Given the description of an element on the screen output the (x, y) to click on. 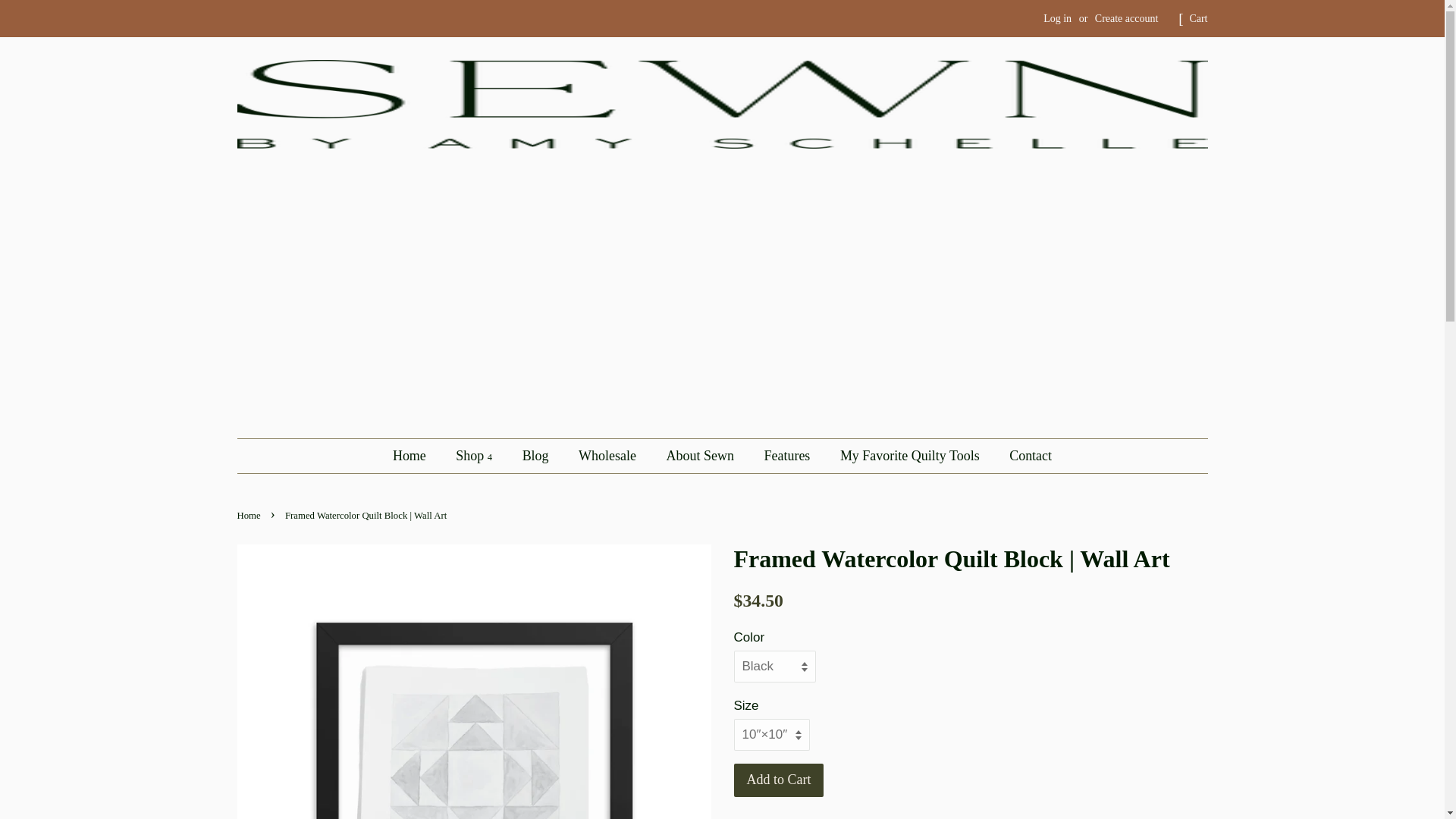
Home (249, 515)
Contact (1024, 455)
About Sewn (702, 455)
Log in (1057, 18)
Create account (1126, 18)
Home (417, 455)
Blog (537, 455)
Features (788, 455)
Shop (475, 455)
My Favorite Quilty Tools (911, 455)
Wholesale (608, 455)
Back to the frontpage (249, 515)
Cart (1198, 18)
